Given the description of an element on the screen output the (x, y) to click on. 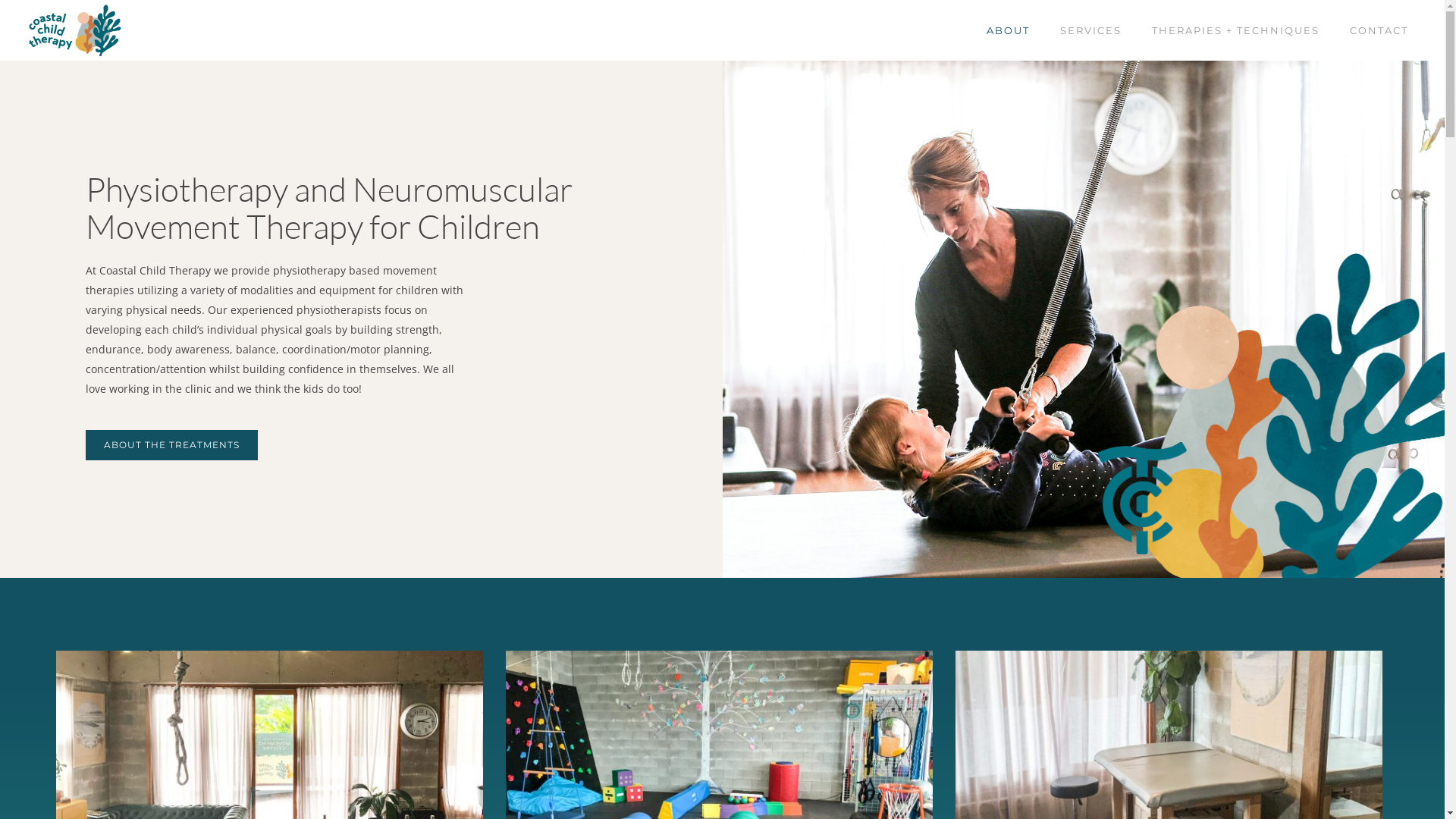
SERVICES Element type: text (1090, 30)
THERAPIES + TECHNIQUES Element type: text (1235, 30)
ABOUT THE TREATMENTS Element type: text (171, 444)
ABOUT Element type: text (1007, 30)
CONTACT Element type: text (1378, 30)
